Given the description of an element on the screen output the (x, y) to click on. 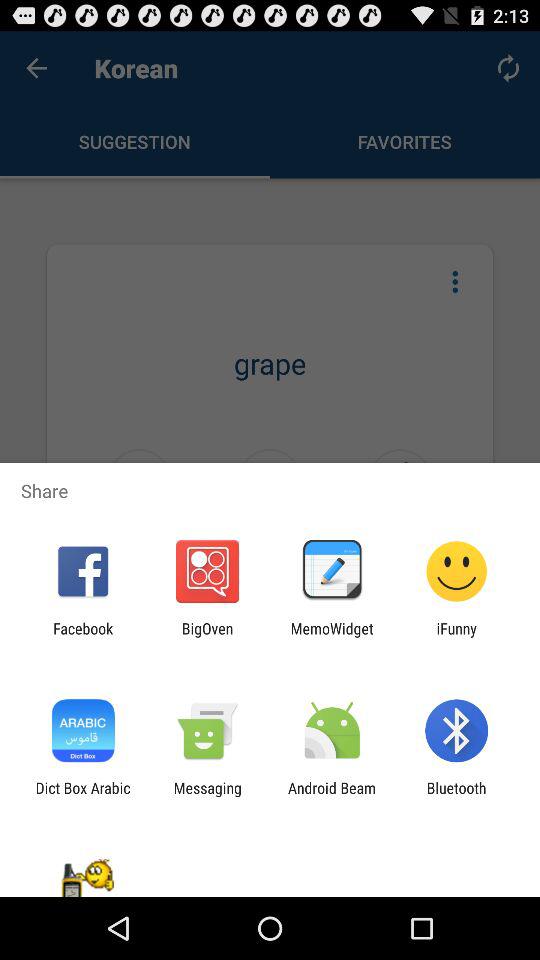
scroll until the messaging item (207, 796)
